Given the description of an element on the screen output the (x, y) to click on. 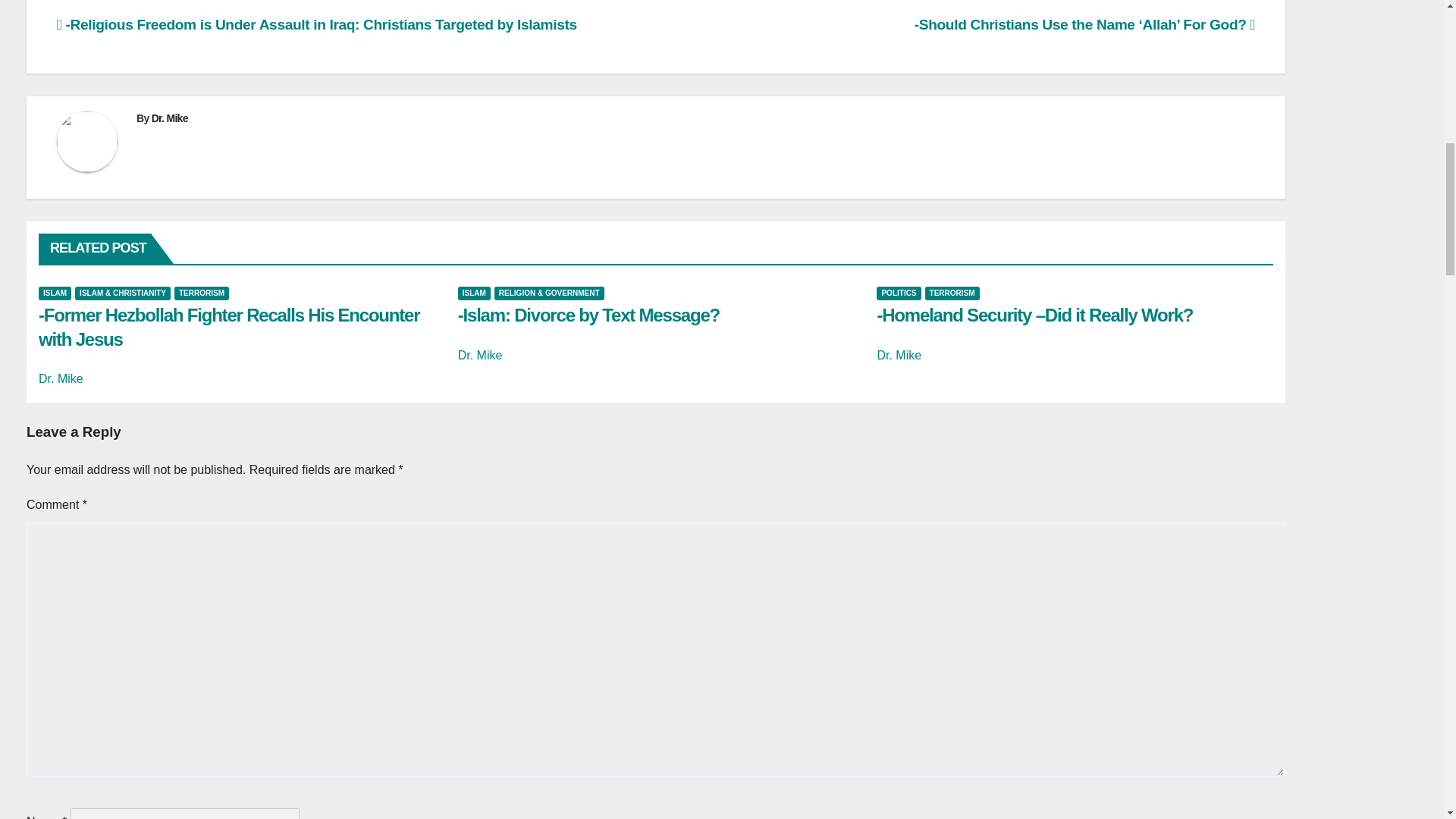
Dr. Mike (60, 378)
TERRORISM (201, 293)
ISLAM (474, 293)
-Islam: Divorce by Text Message? (588, 314)
ISLAM (55, 293)
Dr. Mike (169, 118)
-Former Hezbollah Fighter Recalls His Encounter with Jesus (229, 326)
Permalink to: -Islam: Divorce by Text Message? (588, 314)
